Given the description of an element on the screen output the (x, y) to click on. 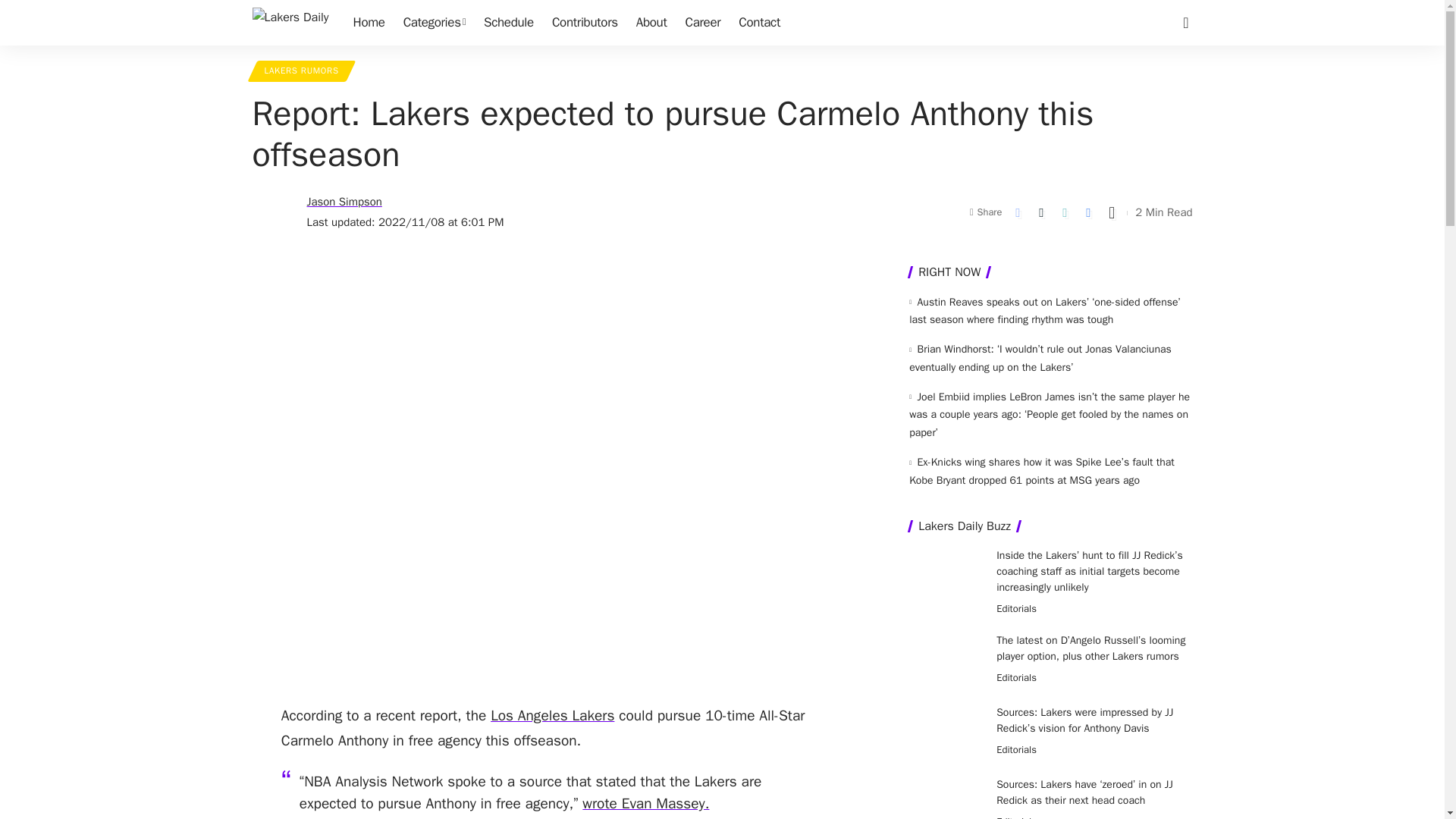
Home (368, 22)
Career (703, 22)
Los Angeles Lakers (552, 715)
Lakers Daily (290, 22)
Contributors (585, 22)
Jason Simpson (343, 201)
About (652, 22)
wrote Evan Massey. (645, 803)
Los Angeles Lakers (552, 715)
Contact (759, 22)
LAKERS RUMORS (300, 70)
Schedule (508, 22)
Categories (434, 22)
